Given the description of an element on the screen output the (x, y) to click on. 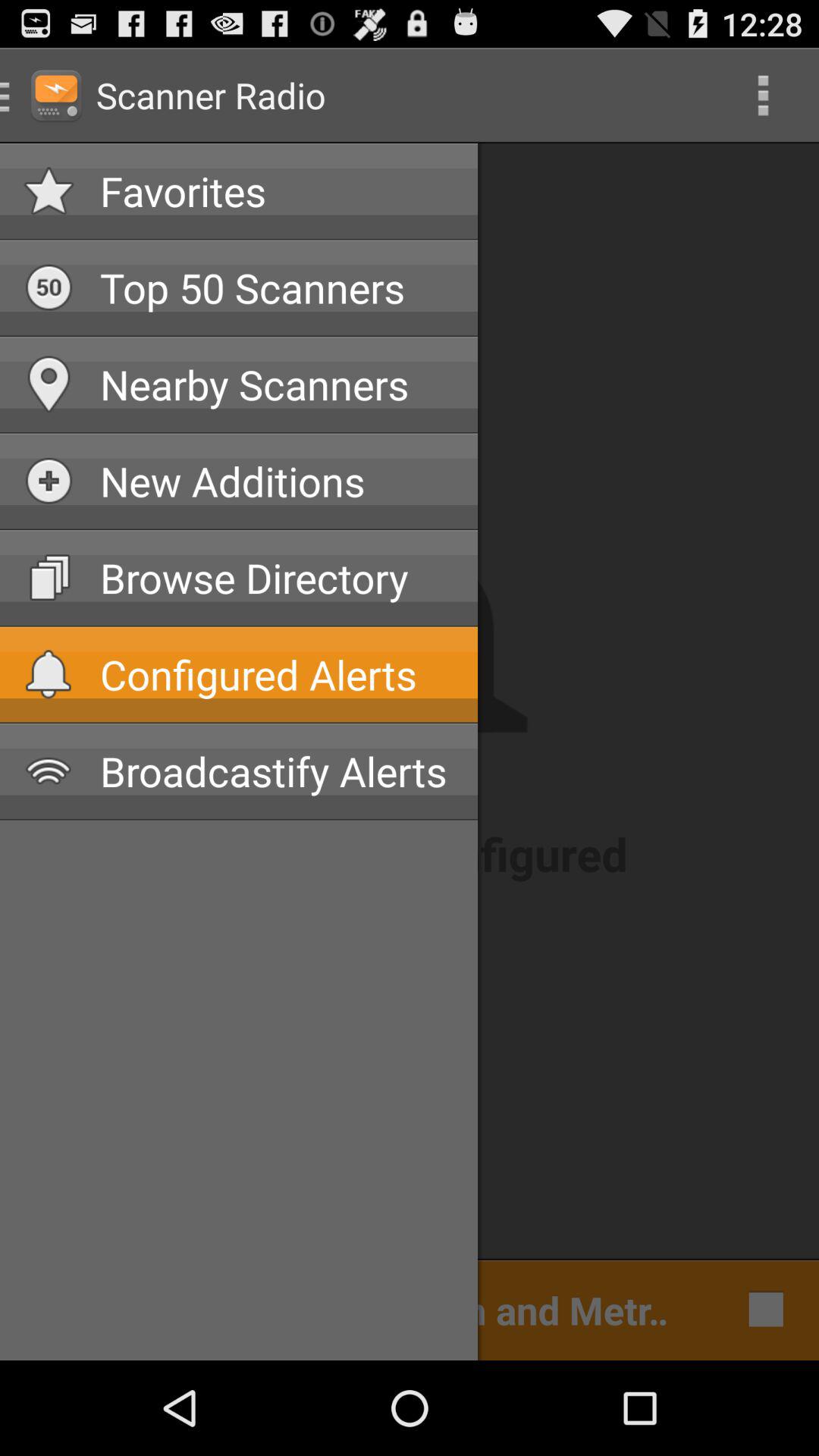
turn on top 50 scanners item (276, 287)
